Given the description of an element on the screen output the (x, y) to click on. 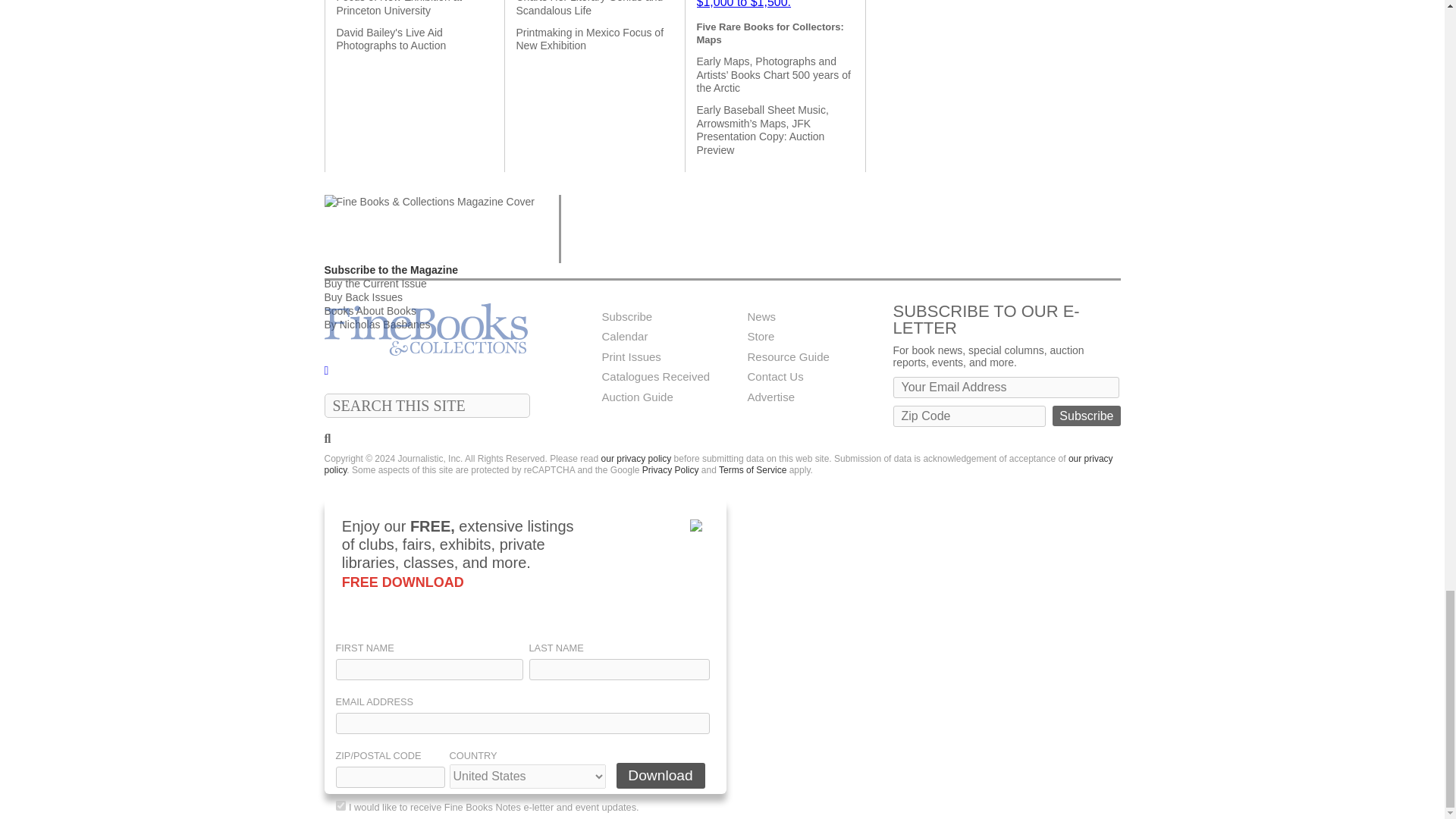
Download (659, 775)
1 (339, 805)
Subscribe (1085, 415)
